Given the description of an element on the screen output the (x, y) to click on. 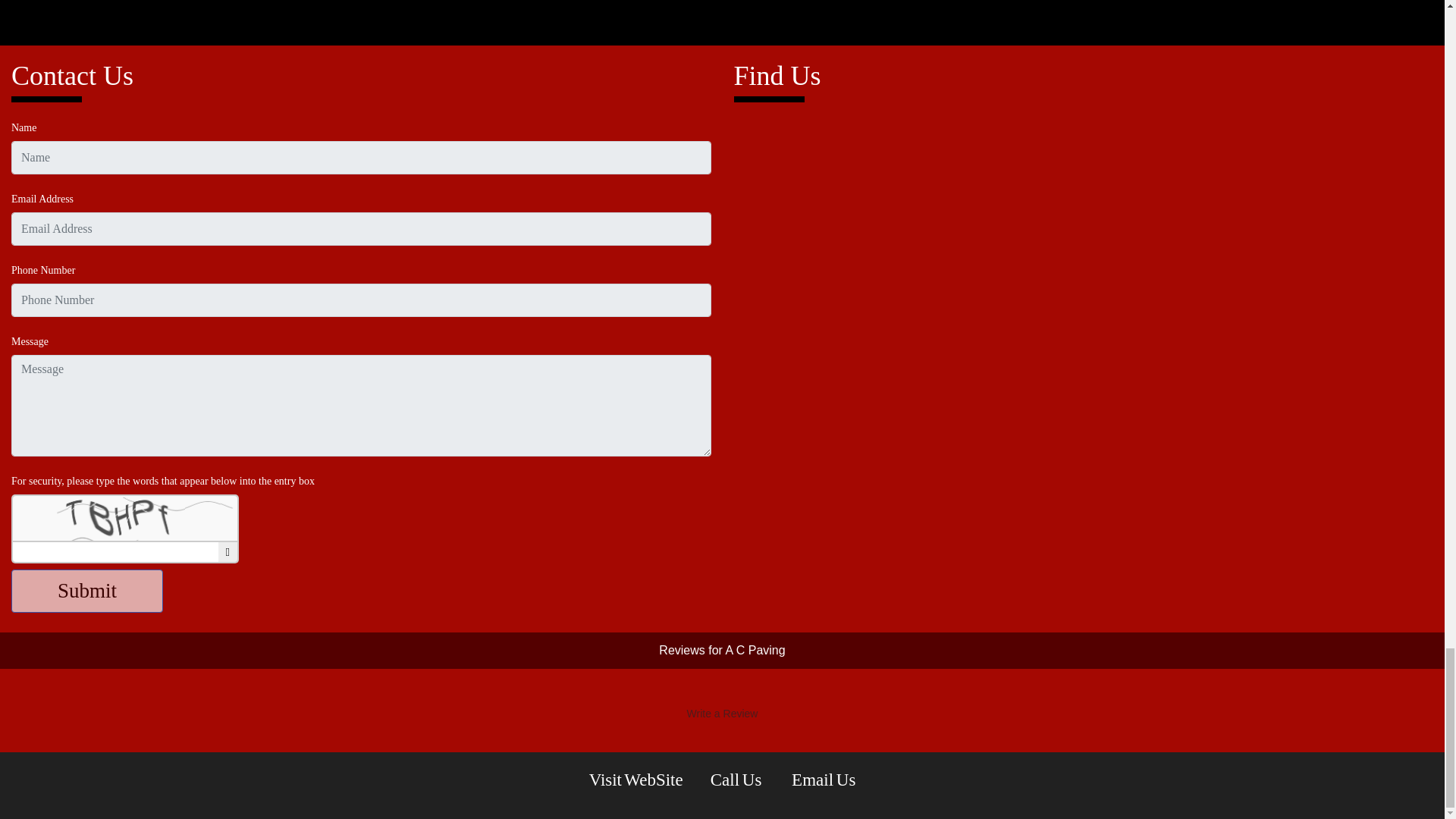
Write a Review (722, 713)
Visit WebSite (636, 779)
Submit (87, 590)
Email Us (823, 779)
Call Us (737, 779)
